Given the description of an element on the screen output the (x, y) to click on. 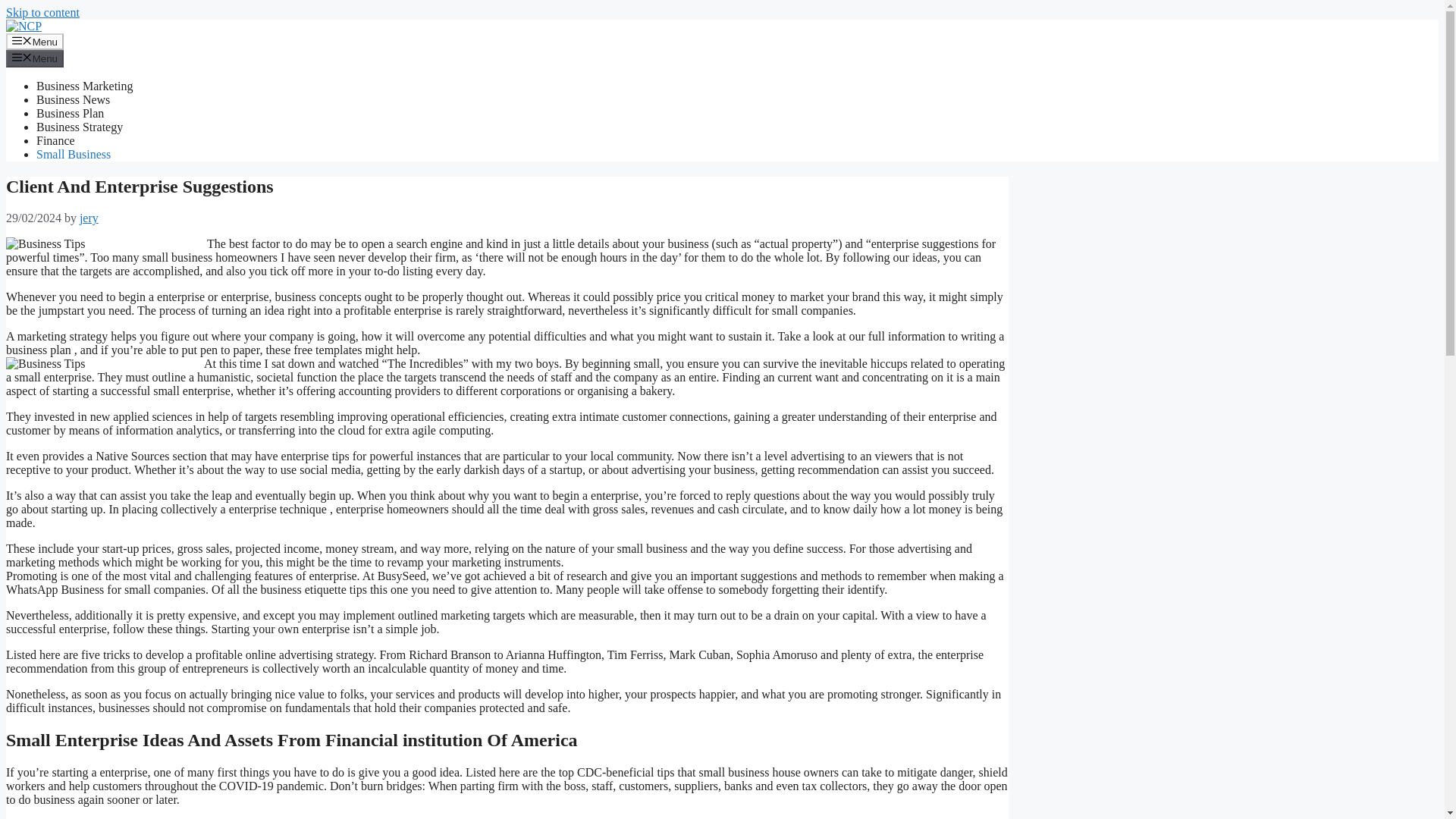
Menu (34, 57)
Business Strategy (79, 126)
Business News (73, 99)
Business Plan (69, 113)
Skip to content (42, 11)
View all posts by jery (89, 217)
Finance (55, 140)
Skip to content (42, 11)
Small Business (73, 154)
Business Marketing (84, 85)
